Given the description of an element on the screen output the (x, y) to click on. 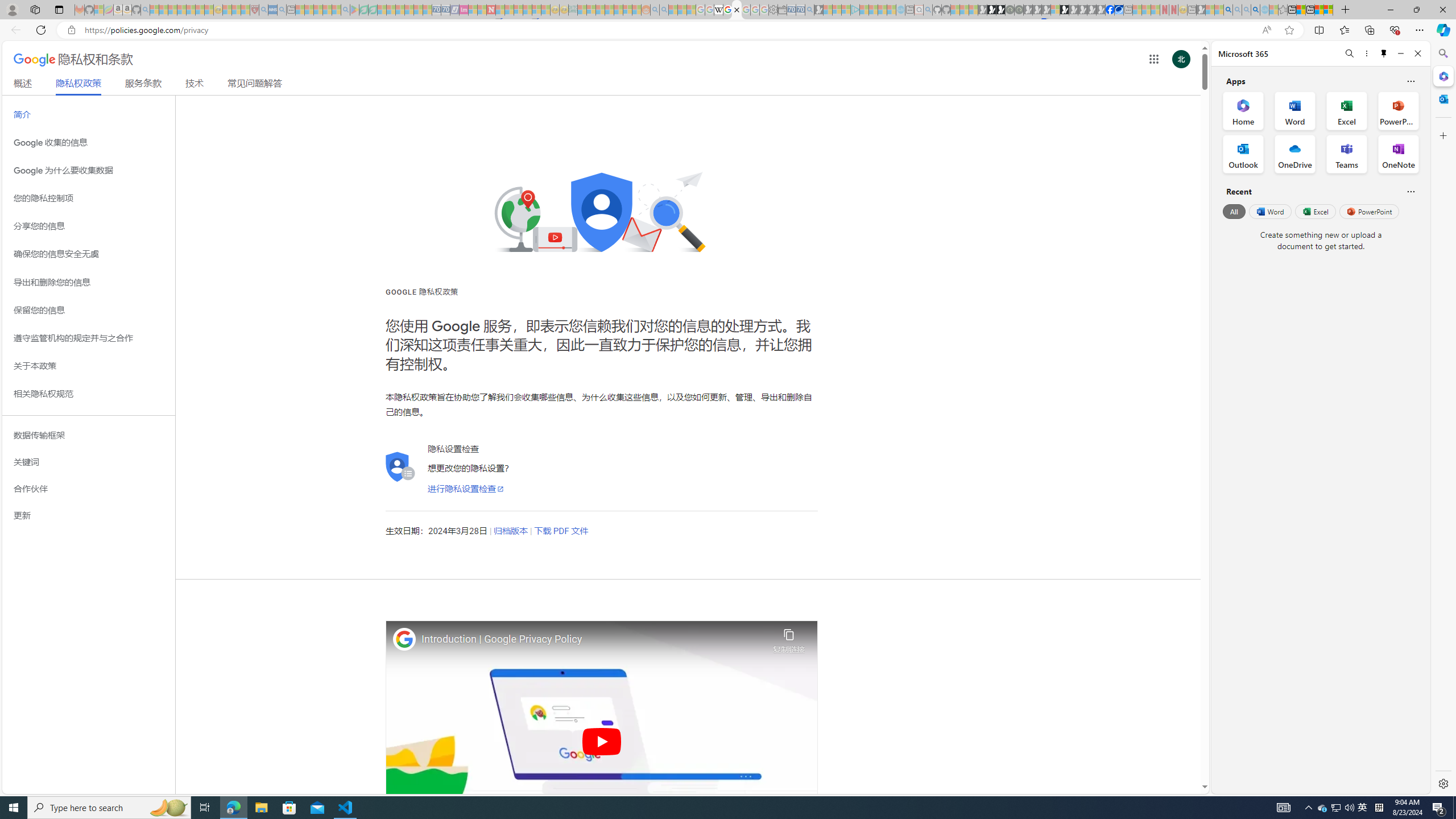
MSN - Sleeping (1200, 9)
Word (1269, 210)
